Given the description of an element on the screen output the (x, y) to click on. 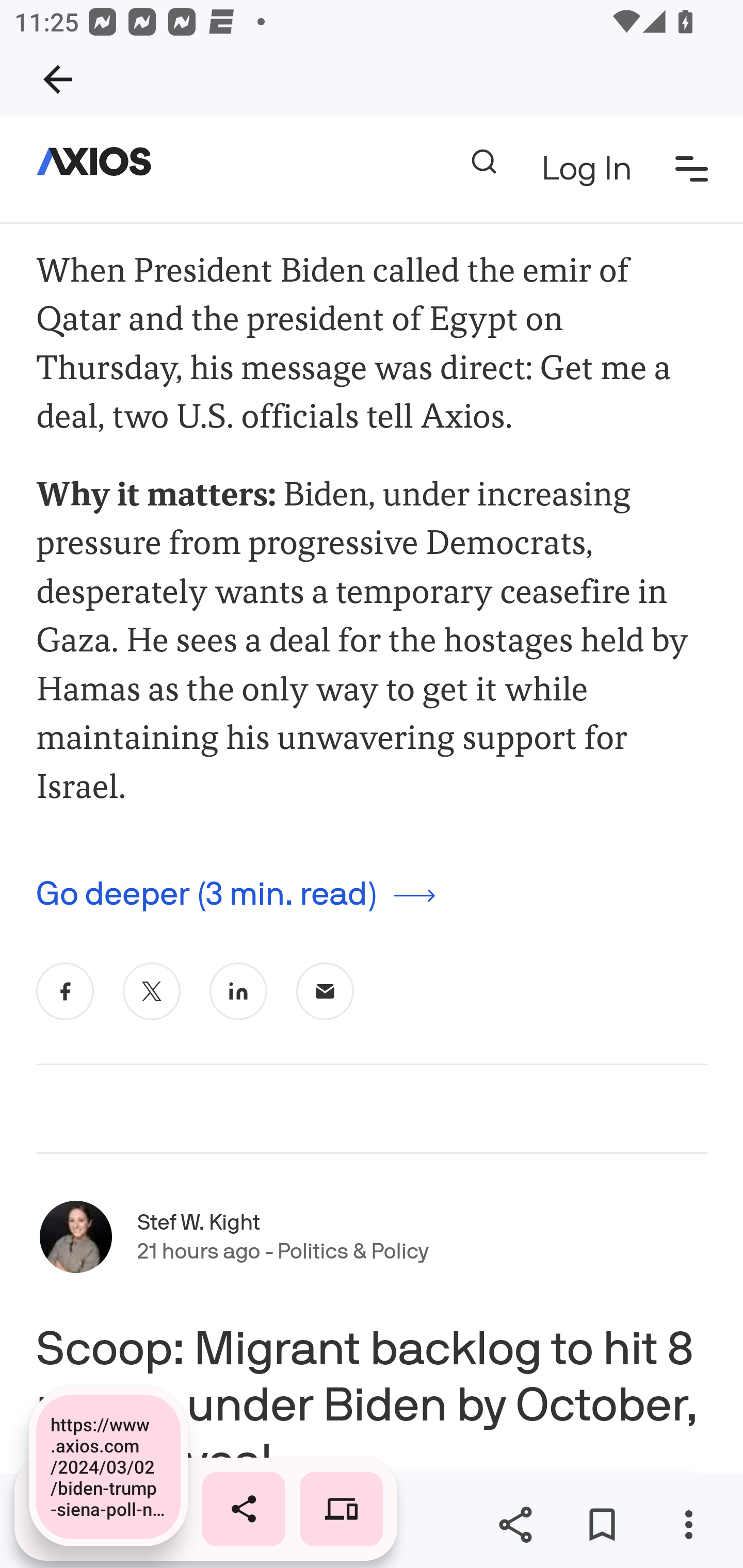
Navigate up (57, 79)
Axios Homepage (101, 161)
Search Page (482, 161)
Log In (586, 169)
Section Menu (692, 168)
Share on facebook (opens in new window) (65, 991)
Share on twitter (opens in new window) (152, 991)
Share on linkedin (opens in new window) (238, 991)
Share on email (opens in new window) (325, 991)
Stef W. Kight (199, 1222)
Politics & Policy (352, 1251)
Share (514, 1524)
Save for later (601, 1524)
More options (688, 1524)
